Given the description of an element on the screen output the (x, y) to click on. 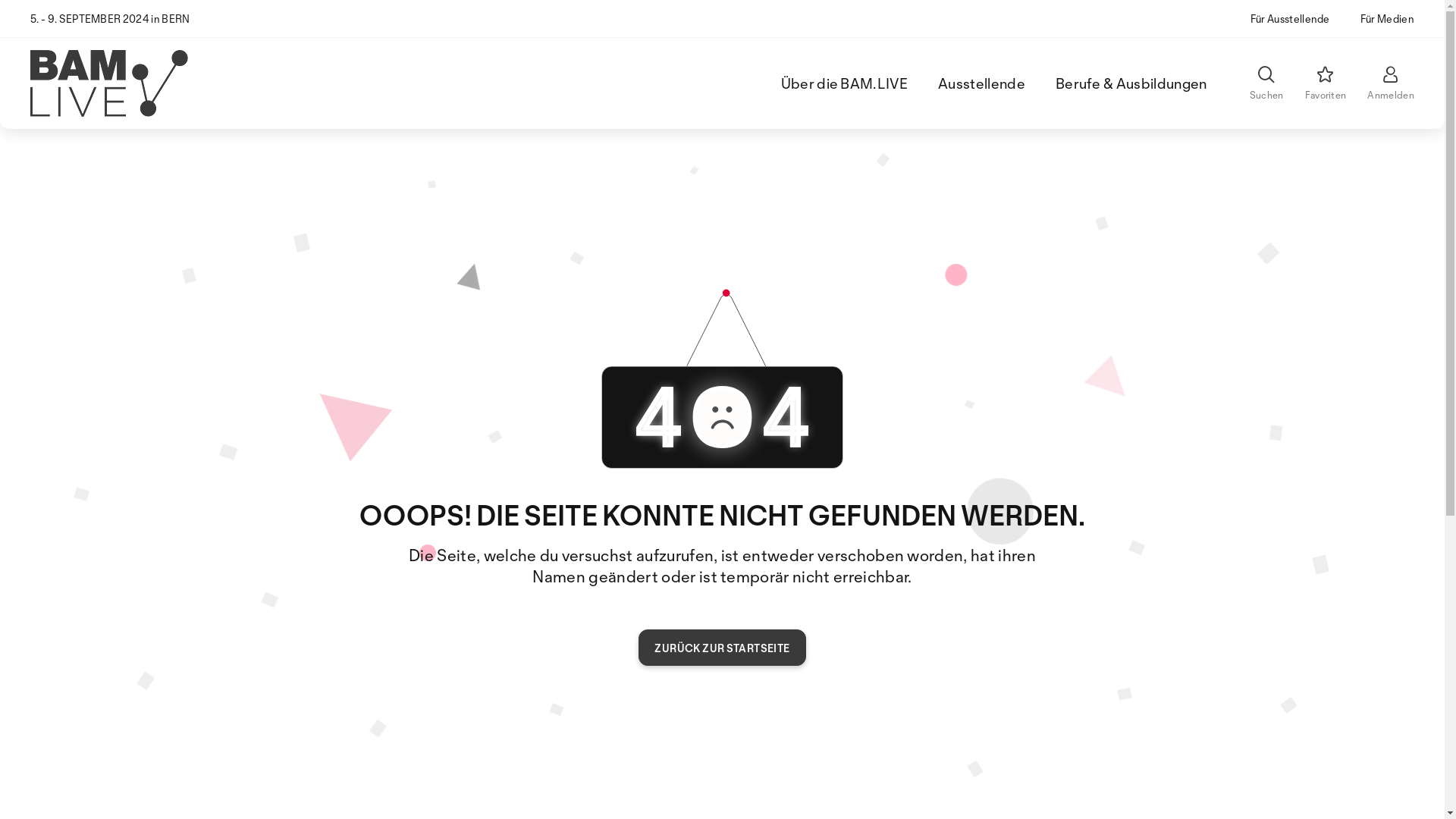
Impressum Element type: text (248, 789)
NEWSLETTER BESTELLEN Element type: text (559, 680)
Consent Choices Element type: text (537, 789)
Suchen Element type: text (1266, 82)
Favoriten Element type: text (1325, 82)
Disclaimer Element type: text (321, 789)
Datenschutz Element type: text (443, 789)
Berufe & Ausbildungen Element type: text (1131, 83)
AGB Element type: text (380, 789)
Anmelden Element type: text (1390, 82)
Ausstellende Element type: text (981, 83)
